Given the description of an element on the screen output the (x, y) to click on. 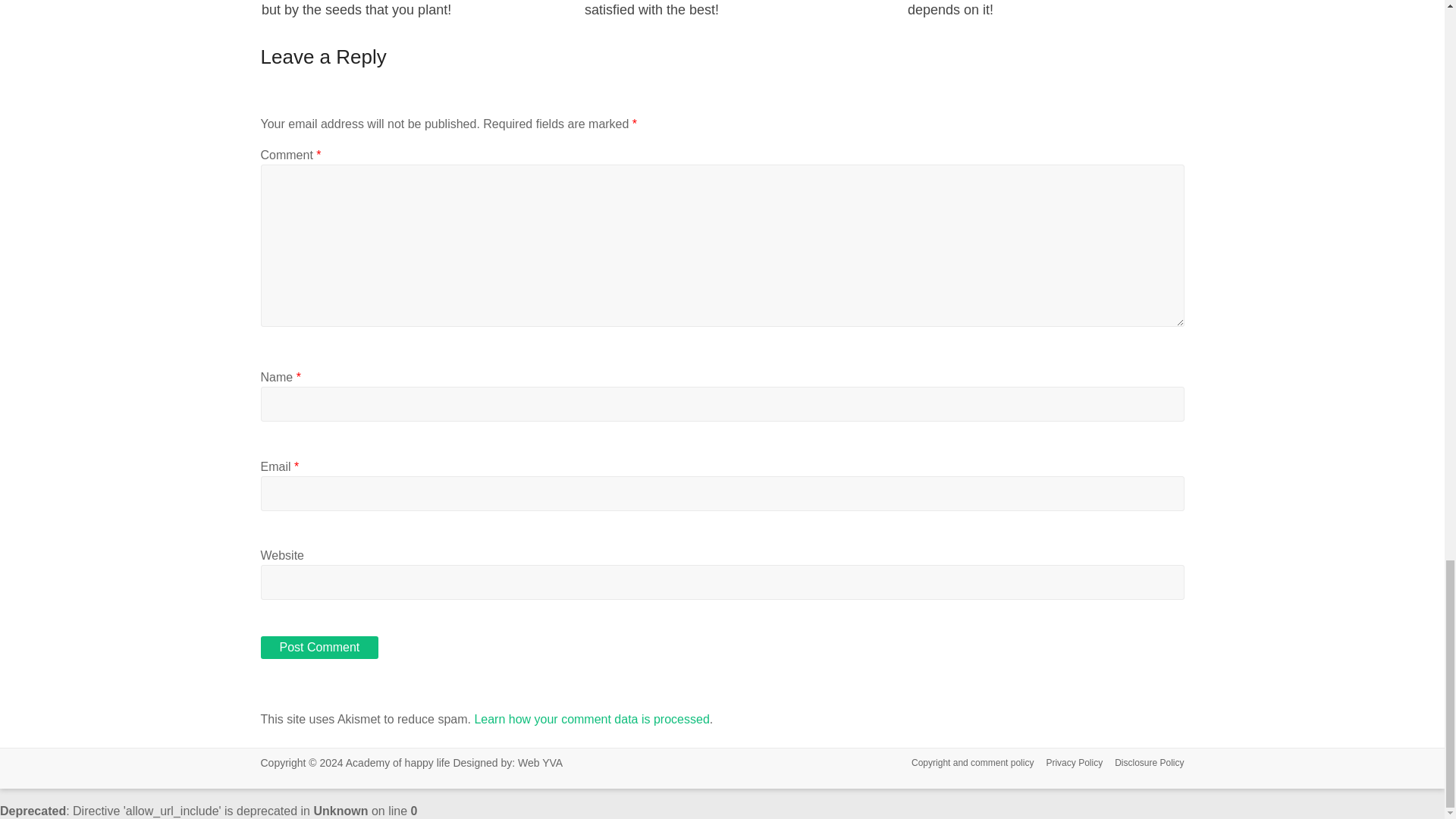
Post Comment (319, 647)
